Given the description of an element on the screen output the (x, y) to click on. 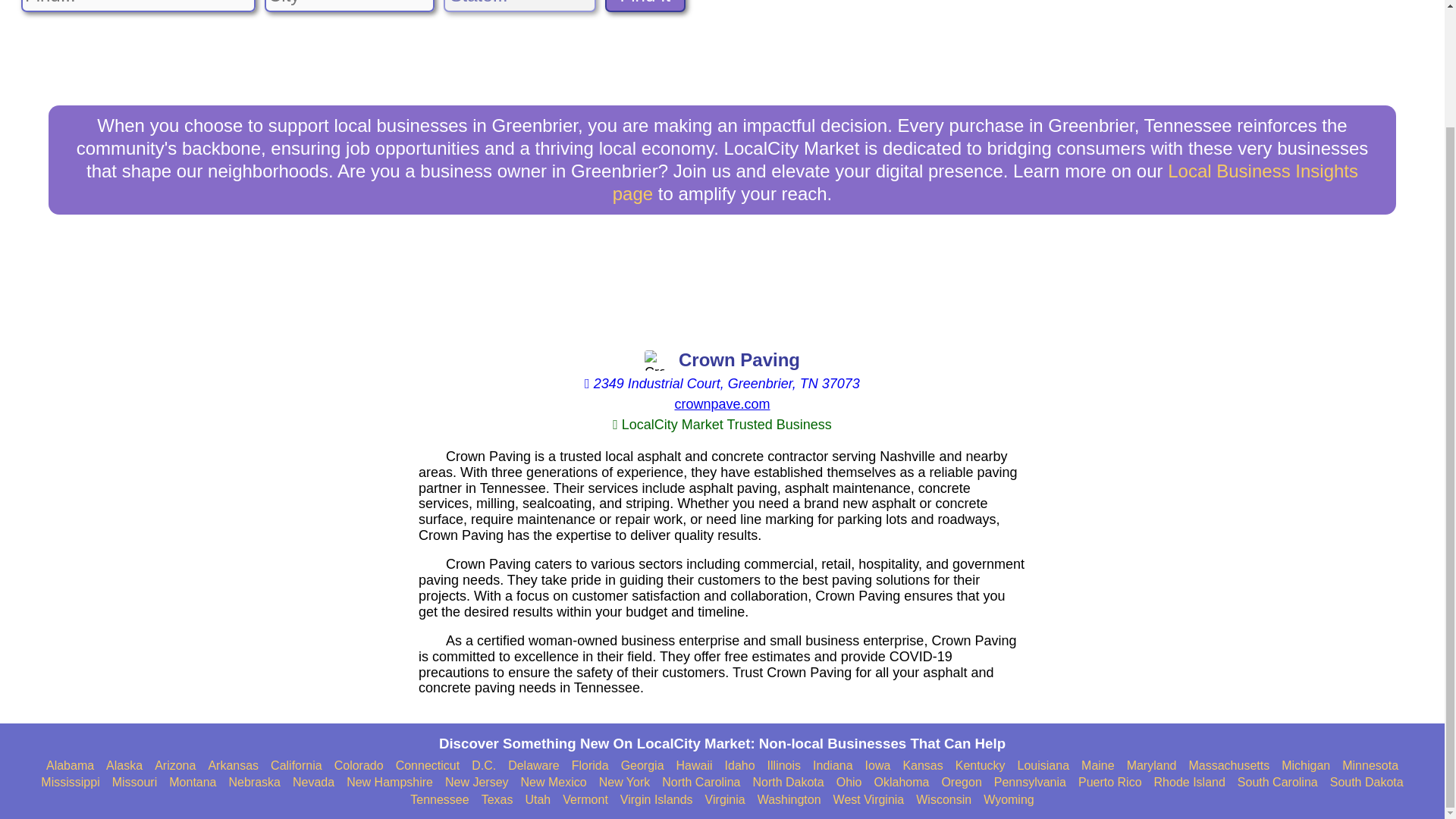
Montana (191, 782)
Find Businesses in Colorado (359, 766)
Find Businesses in D.C. (483, 766)
Mississippi (69, 782)
New Jersey (476, 782)
Colorado (359, 766)
Local Business Insights (985, 181)
Massachusetts (1228, 766)
Find Businesses in Alabama (70, 766)
New Hampshire (389, 782)
Kentucky (980, 766)
Find Businesses in Connecticut (428, 766)
Find Businesses in California (295, 766)
Nebraska (254, 782)
Alaska (124, 766)
